Given the description of an element on the screen output the (x, y) to click on. 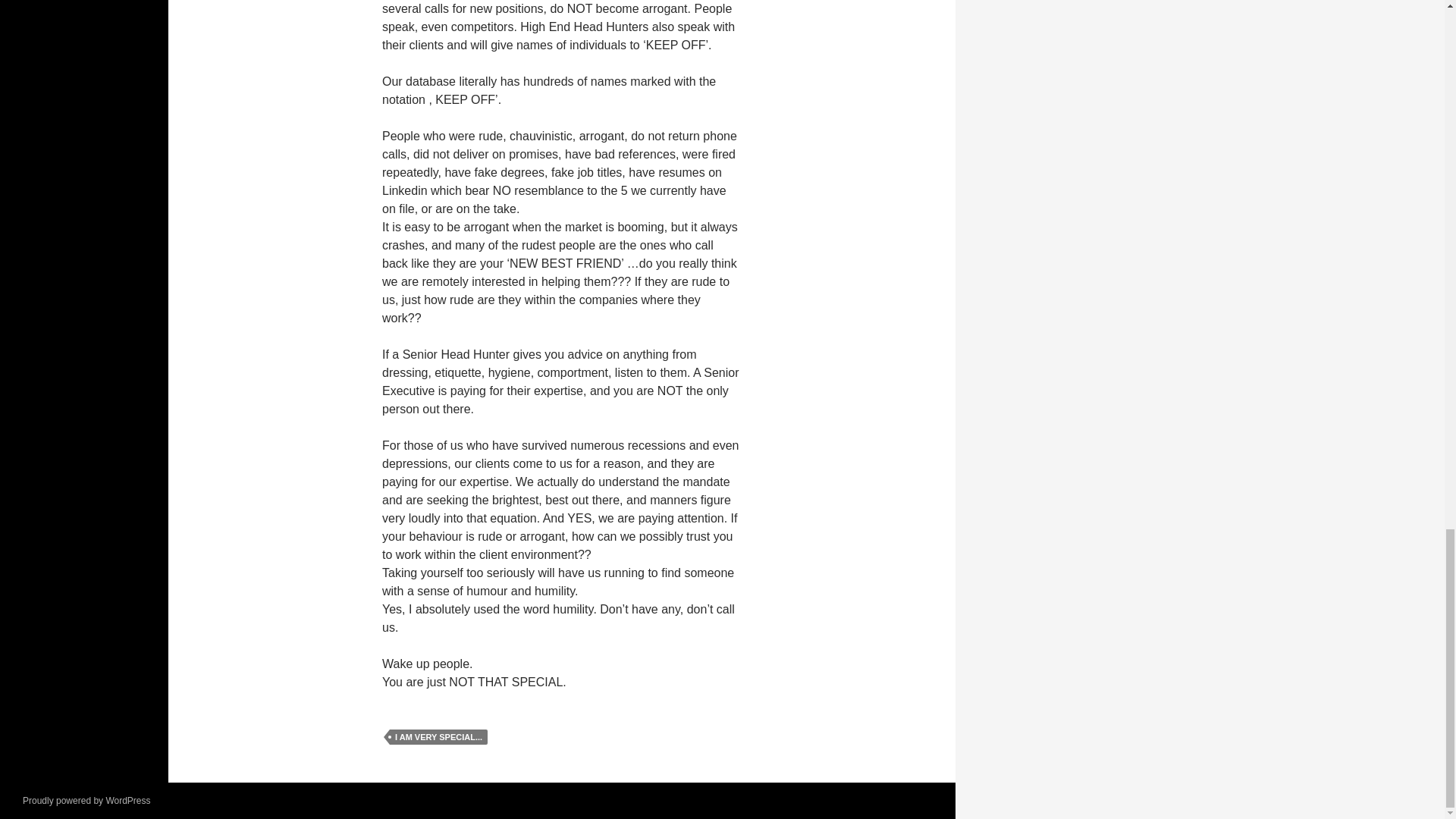
I AM VERY SPECIAL... (438, 736)
